Given the description of an element on the screen output the (x, y) to click on. 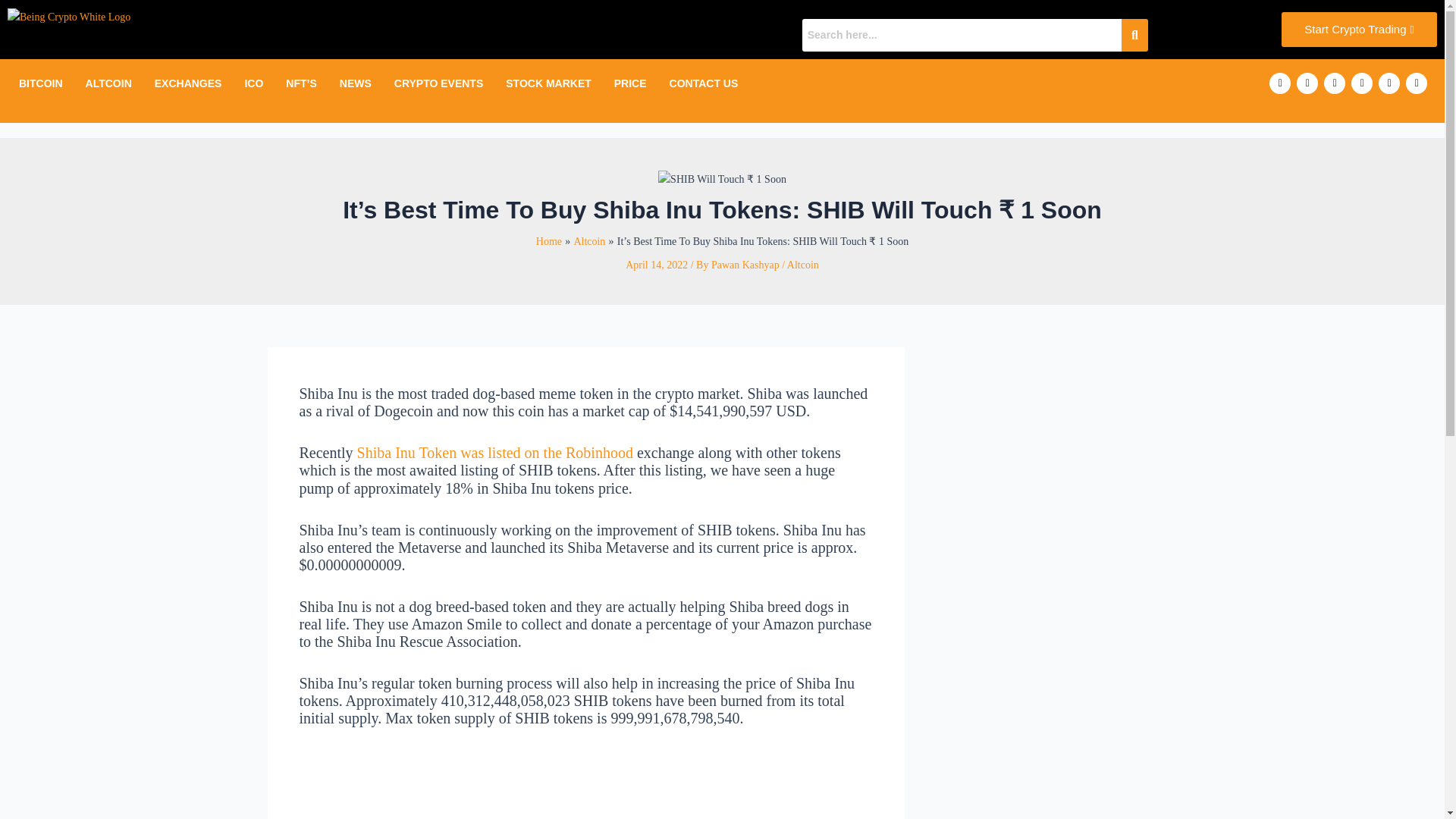
View all posts by Pawan Kashyap (746, 265)
Pawan Kashyap (746, 265)
BITCOIN (40, 82)
Linkedin-in (1362, 83)
ICO (253, 82)
PRICE (630, 82)
EXCHANGES (187, 82)
Home (548, 241)
Search (961, 34)
Start Crypto Trading (1359, 29)
Reddit-alien (1416, 83)
STOCK MARKET (548, 82)
CONTACT US (703, 82)
Twitter (1334, 83)
ALTCOIN (108, 82)
